Given the description of an element on the screen output the (x, y) to click on. 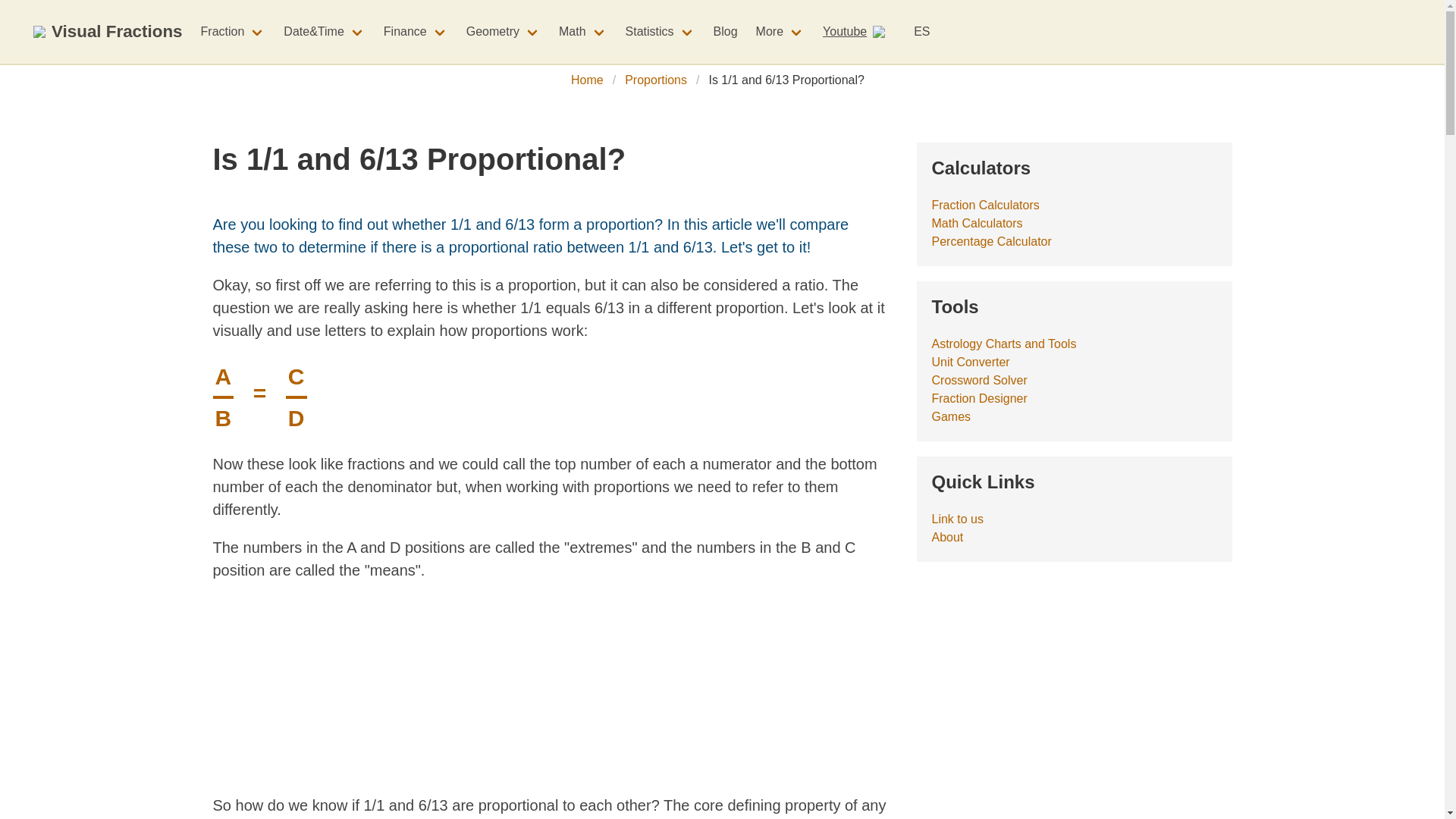
Fraction (233, 31)
Geometry (503, 31)
Math (582, 31)
Finance (415, 31)
Visual Fractions (108, 31)
